Given the description of an element on the screen output the (x, y) to click on. 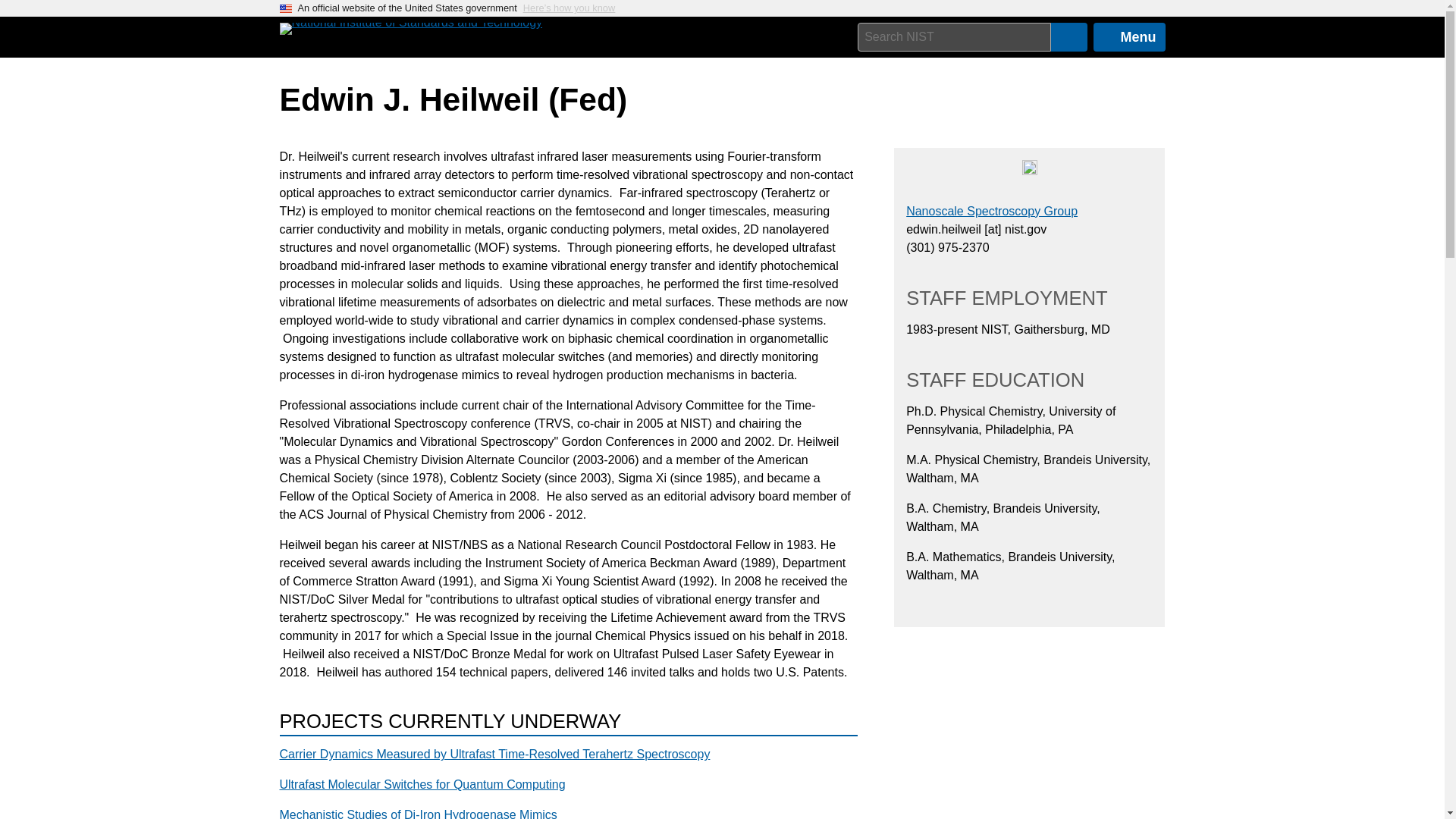
National Institute of Standards and Technology (410, 28)
Menu (1129, 36)
